Given the description of an element on the screen output the (x, y) to click on. 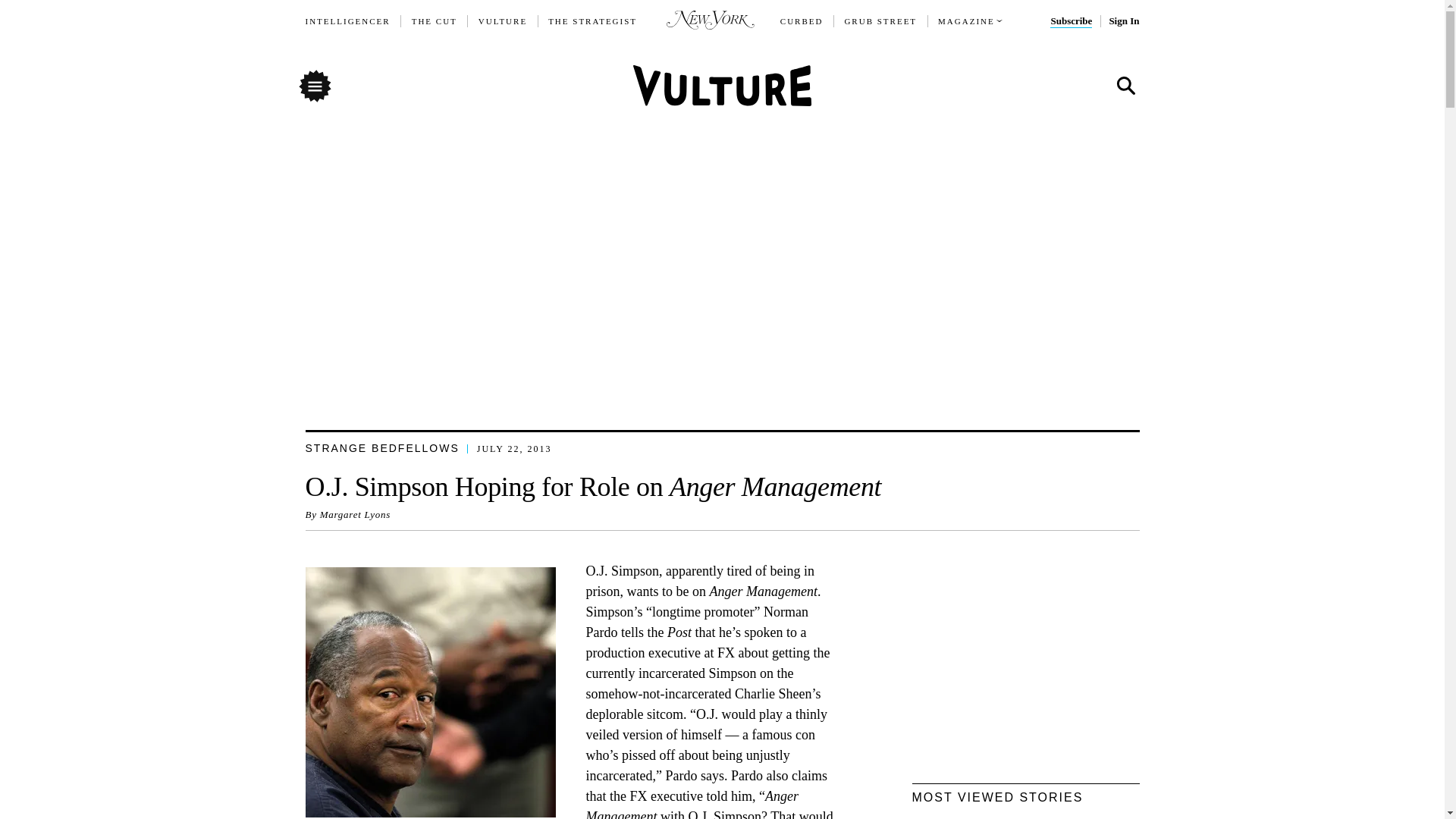
THE STRATEGIST (592, 21)
Subscribe (1070, 21)
Search (1124, 86)
MAGAZINE (965, 21)
VULTURE (503, 21)
THE CUT (434, 21)
Sign In (1123, 21)
CURBED (802, 21)
INTELLIGENCER (347, 21)
Menu (314, 84)
GRUB STREET (880, 21)
